Given the description of an element on the screen output the (x, y) to click on. 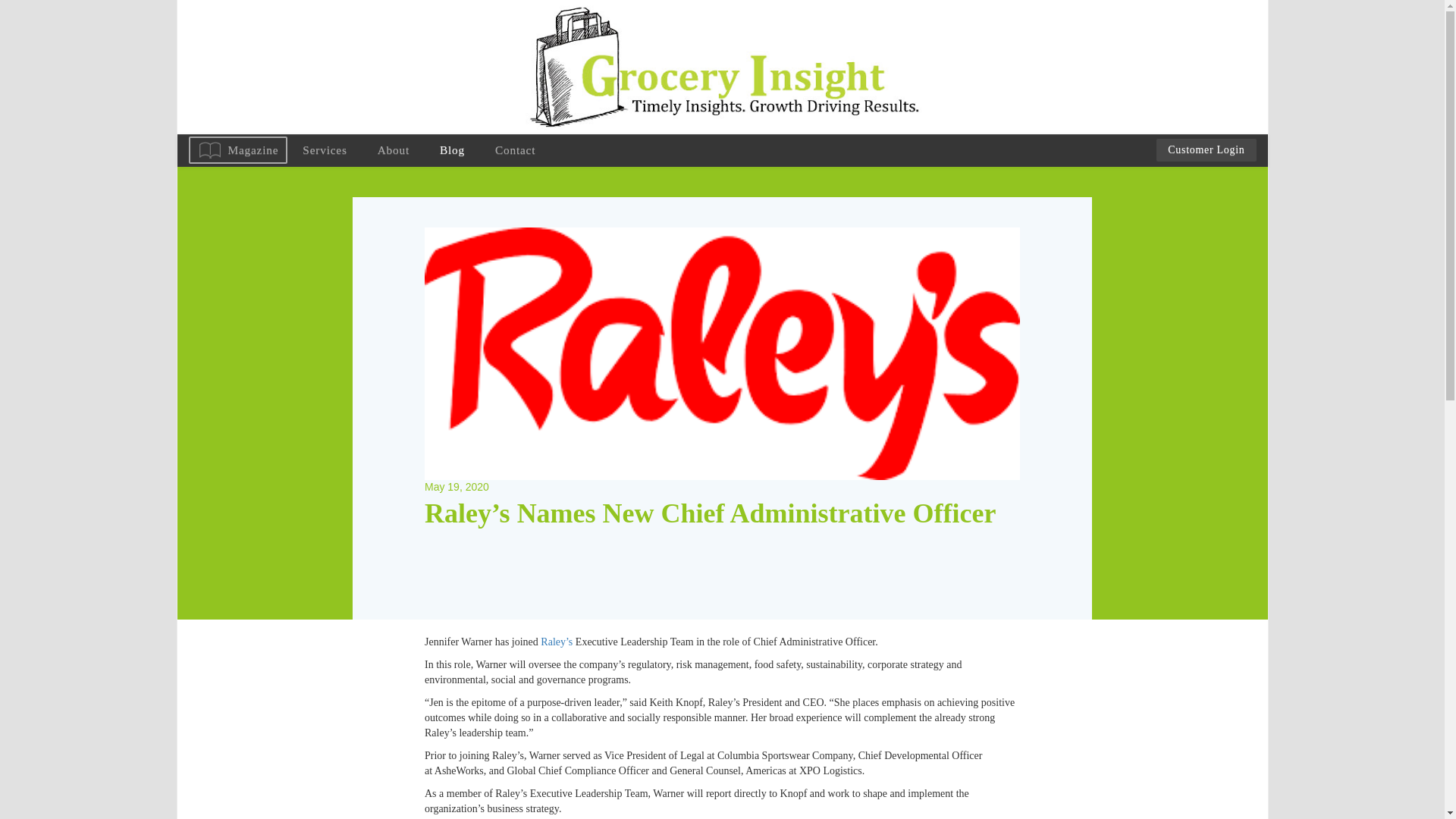
Services (323, 149)
Customer Login (1205, 149)
Contact (515, 149)
Magazine (237, 150)
Blog (452, 149)
About (393, 149)
